Given the description of an element on the screen output the (x, y) to click on. 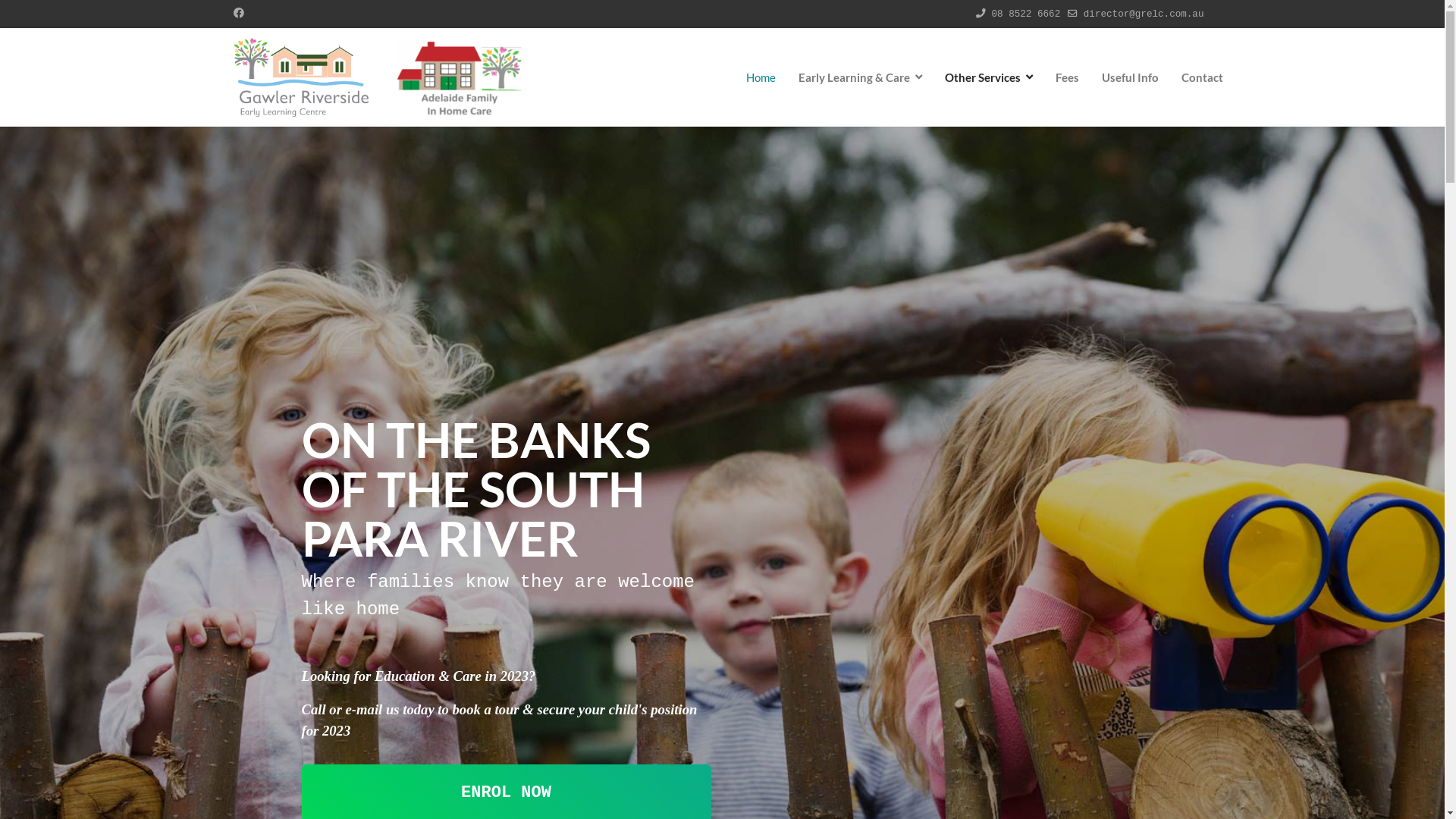
Useful Info Element type: text (1130, 77)
08 8522 6662 Element type: text (1025, 14)
Fees Element type: text (1066, 77)
director@grelc.com.au Element type: text (1143, 14)
Home Element type: text (760, 77)
Early Learning & Care Element type: text (860, 77)
Contact Element type: text (1195, 77)
